Given the description of an element on the screen output the (x, y) to click on. 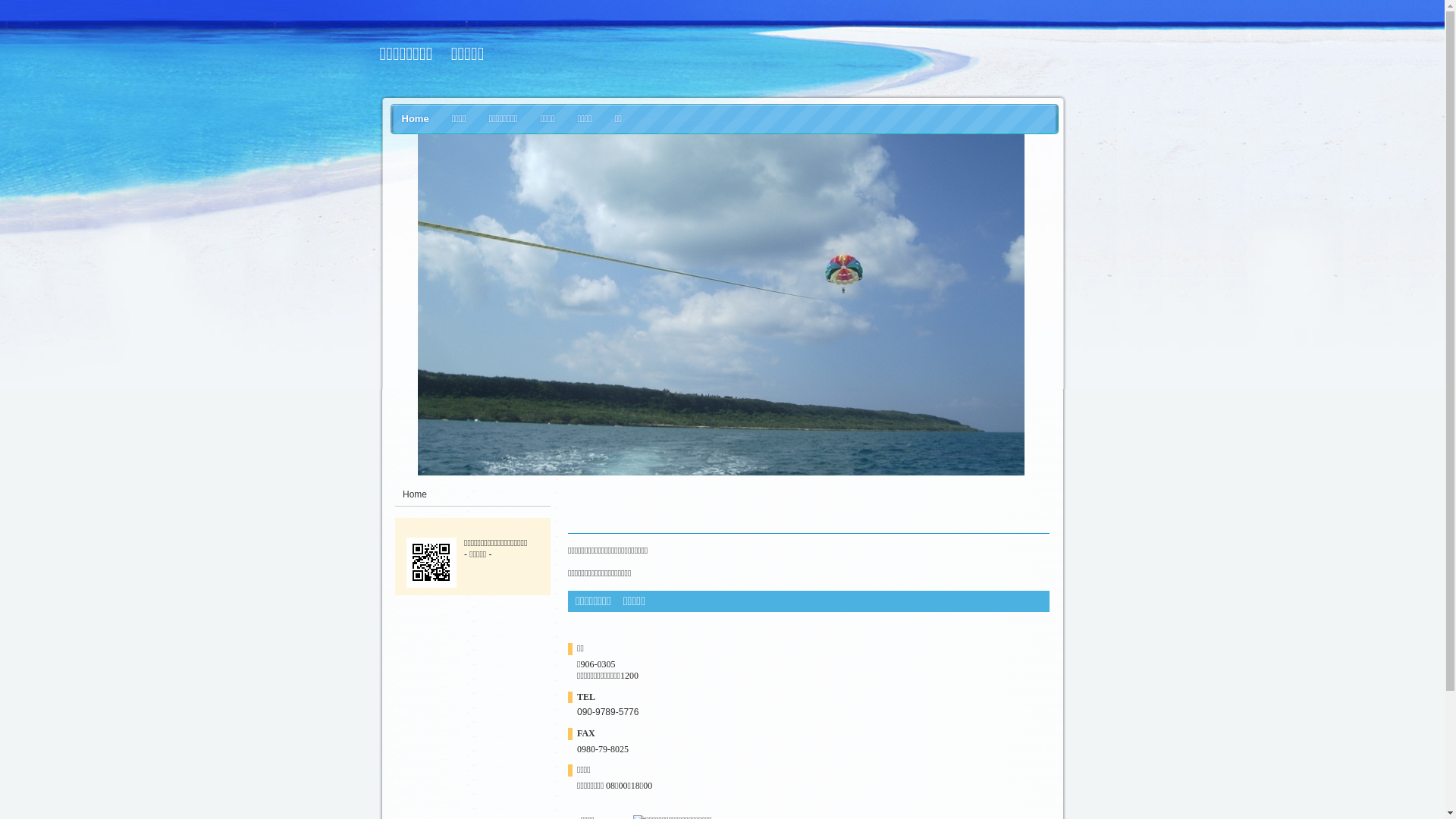
Home Element type: text (414, 494)
090-9789-5776 Element type: text (607, 711)
Home Element type: text (414, 118)
